Given the description of an element on the screen output the (x, y) to click on. 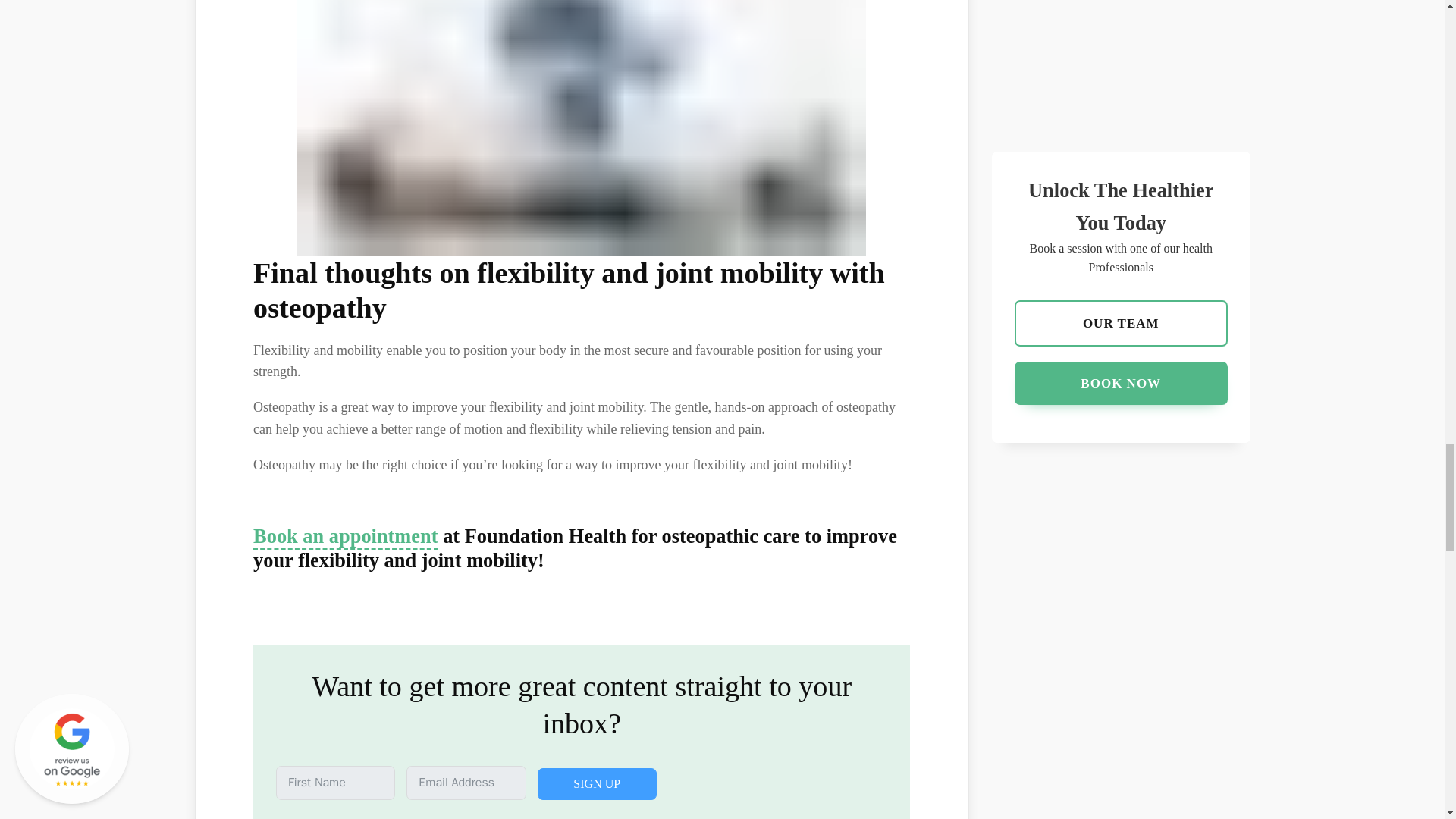
Book an appointment (345, 536)
SIGN UP (596, 784)
